Given the description of an element on the screen output the (x, y) to click on. 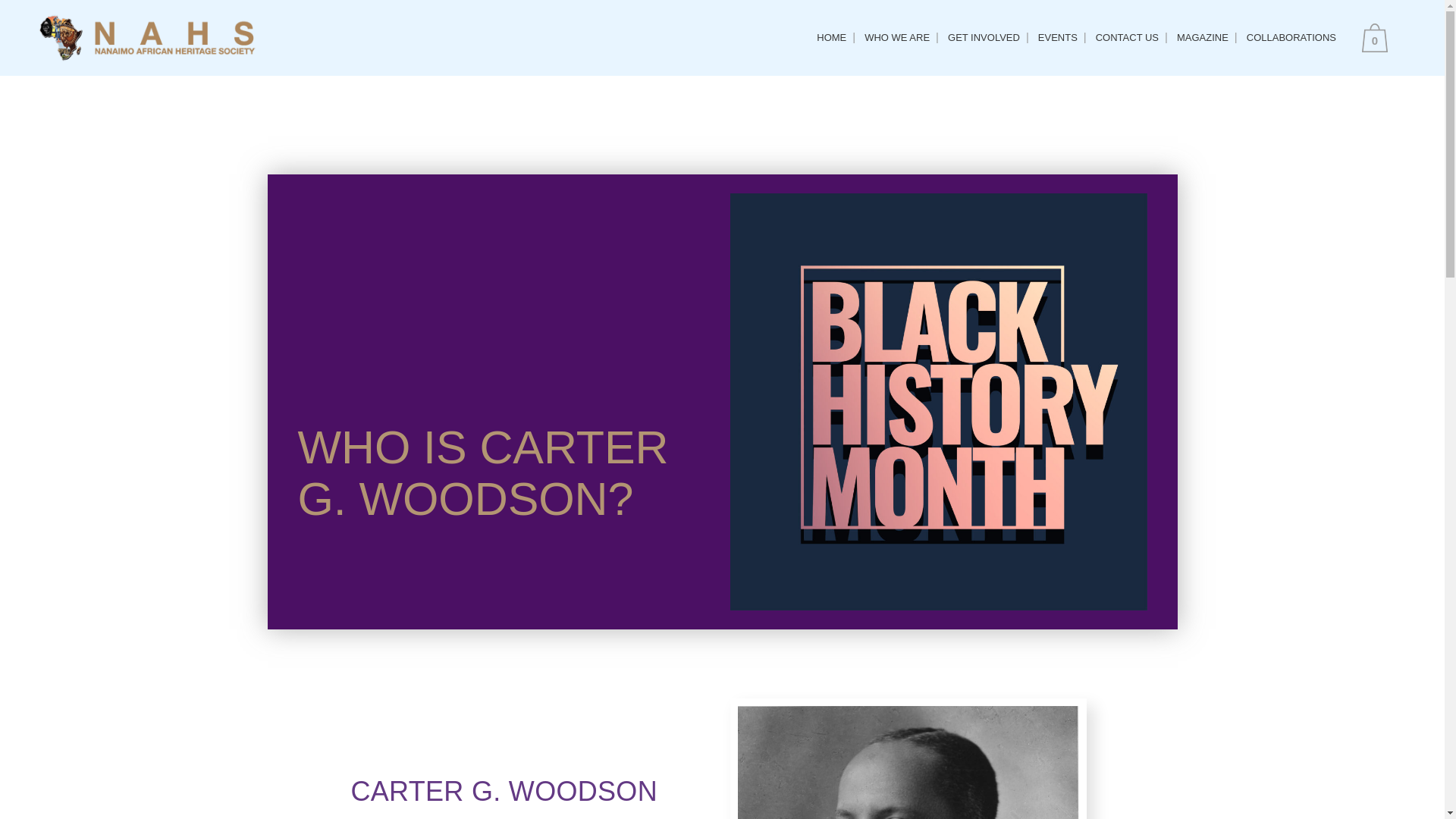
WHO WE ARE (897, 38)
GET INVOLVED (983, 38)
CONTACT US (1126, 38)
COLLABORATIONS (1291, 38)
0 (1377, 37)
